Given the description of an element on the screen output the (x, y) to click on. 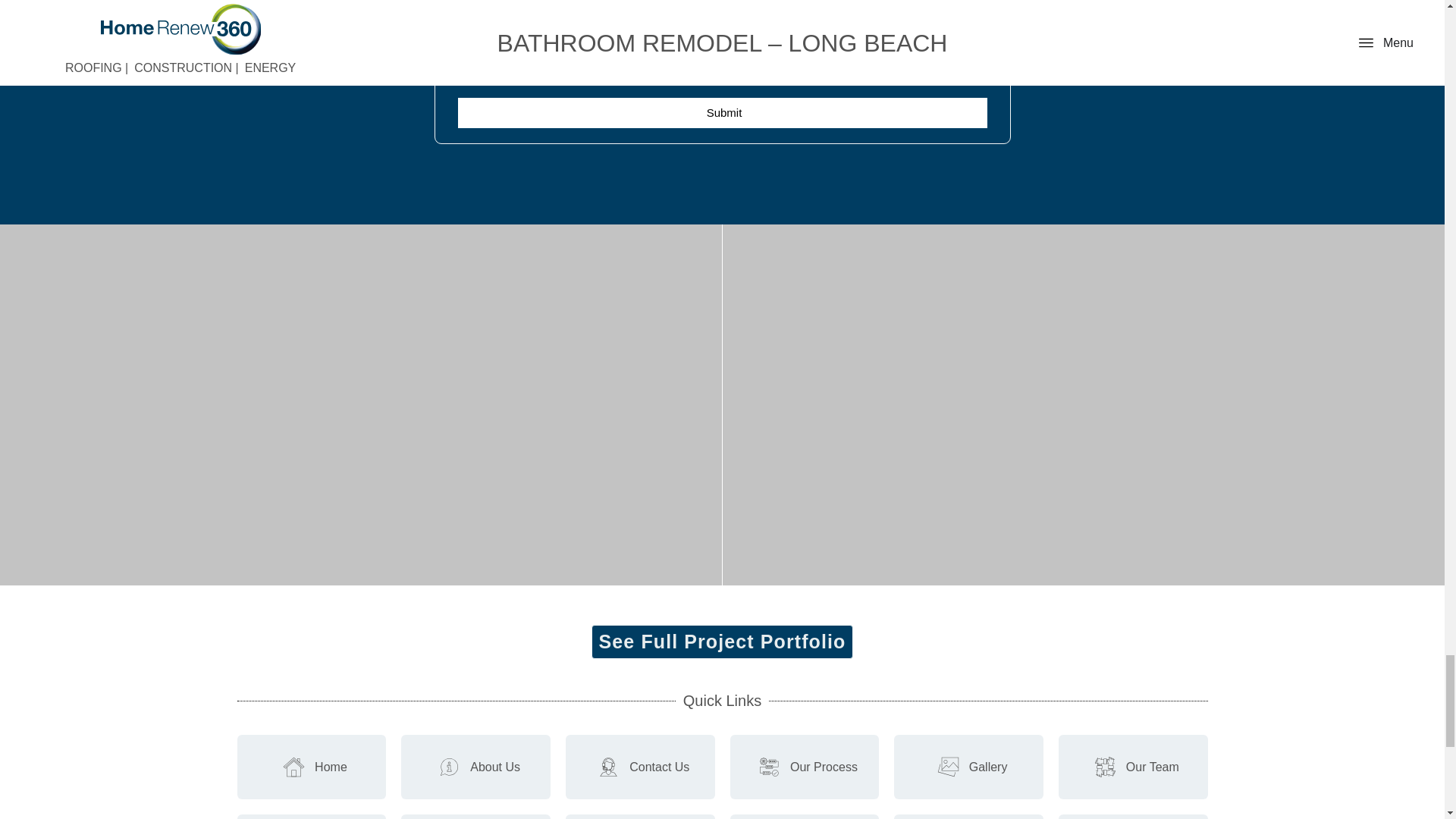
on (462, 30)
